Given the description of an element on the screen output the (x, y) to click on. 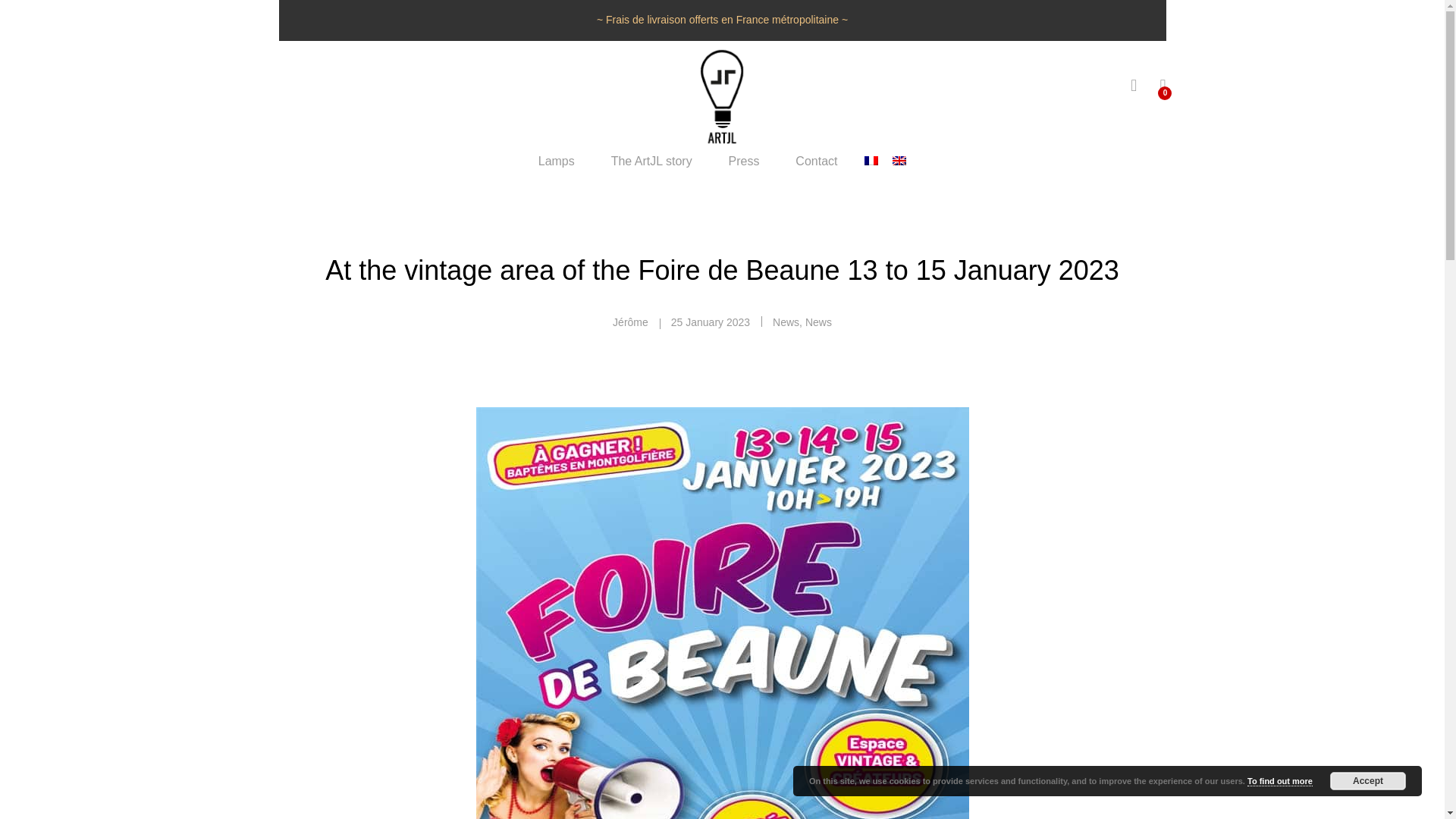
The ArtJL story (652, 161)
Press (744, 161)
Contact (815, 161)
0 (1162, 87)
Lamps (556, 161)
